Given the description of an element on the screen output the (x, y) to click on. 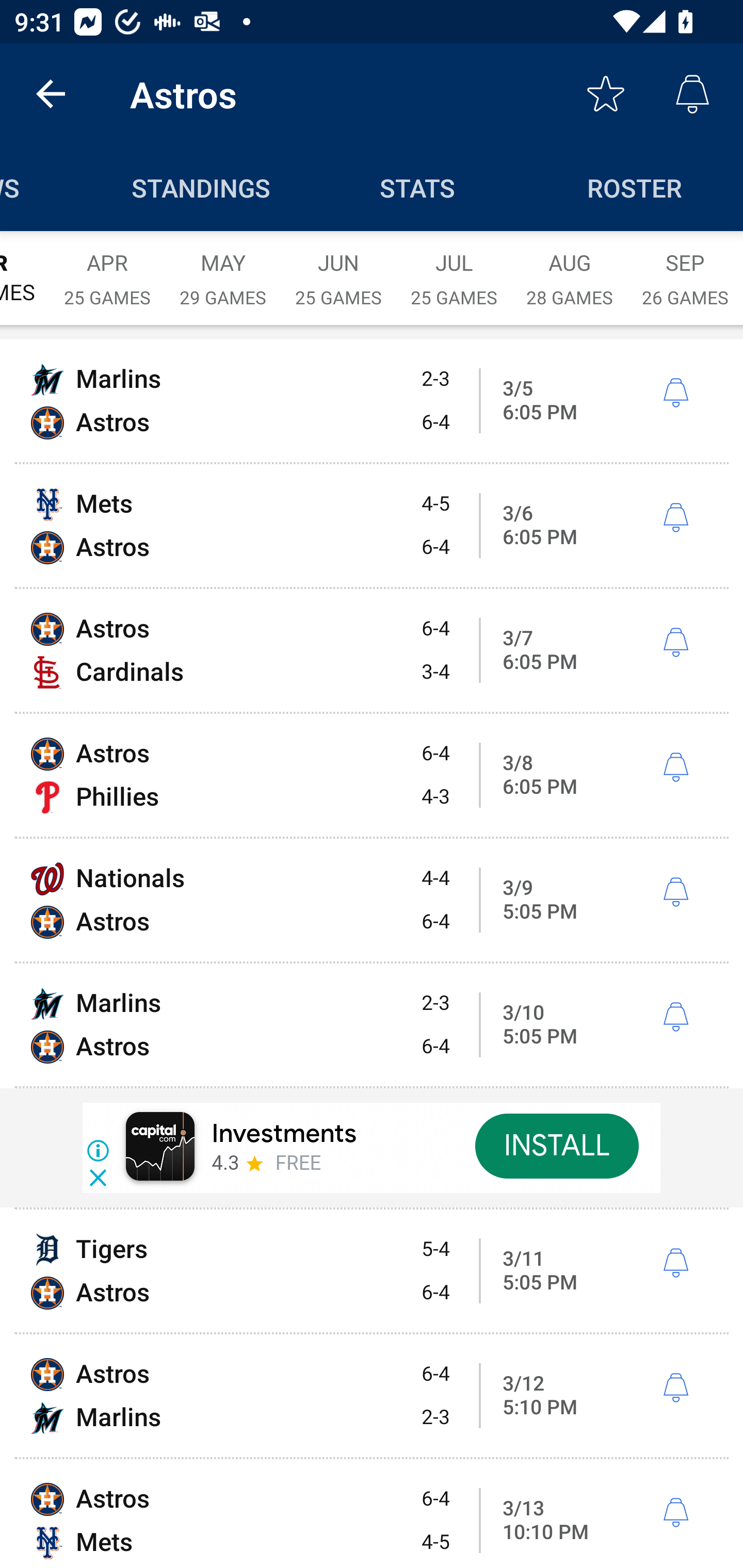
back.button (50, 93)
Favorite toggle (605, 93)
Alerts (692, 93)
Standings STANDINGS (200, 187)
Stats STATS (417, 187)
Roster ROSTER (634, 187)
APR 25 GAMES (106, 268)
MAY 29 GAMES (222, 268)
JUN 25 GAMES (338, 268)
JUL 25 GAMES (453, 268)
AUG 28 GAMES (569, 268)
SEP 26 GAMES (685, 268)
Marlins 2-3 Astros 6-4 3/5 6:05 PM í (371, 400)
í (675, 392)
Mets 4-5 Astros 6-4 3/6 6:05 PM í (371, 525)
í (675, 517)
Astros 6-4 Cardinals 3-4 3/7 6:05 PM í (371, 650)
í (675, 642)
Astros 6-4 Phillies 4-3 3/8 6:05 PM í (371, 775)
í (675, 767)
Nationals 4-4 Astros 6-4 3/9 5:05 PM í (371, 899)
í (675, 892)
Marlins 2-3 Astros 6-4 3/10 5:05 PM í (371, 1024)
í (675, 1016)
INSTALL (556, 1146)
Investments (283, 1133)
Tigers 5-4 Astros 6-4 3/11 5:05 PM í (371, 1270)
í (675, 1262)
Astros 6-4 Marlins 2-3 3/12 5:10 PM í (371, 1395)
í (675, 1388)
Astros 6-4 Mets 4-5 3/13 10:10 PM í (371, 1513)
í (675, 1512)
